Given the description of an element on the screen output the (x, y) to click on. 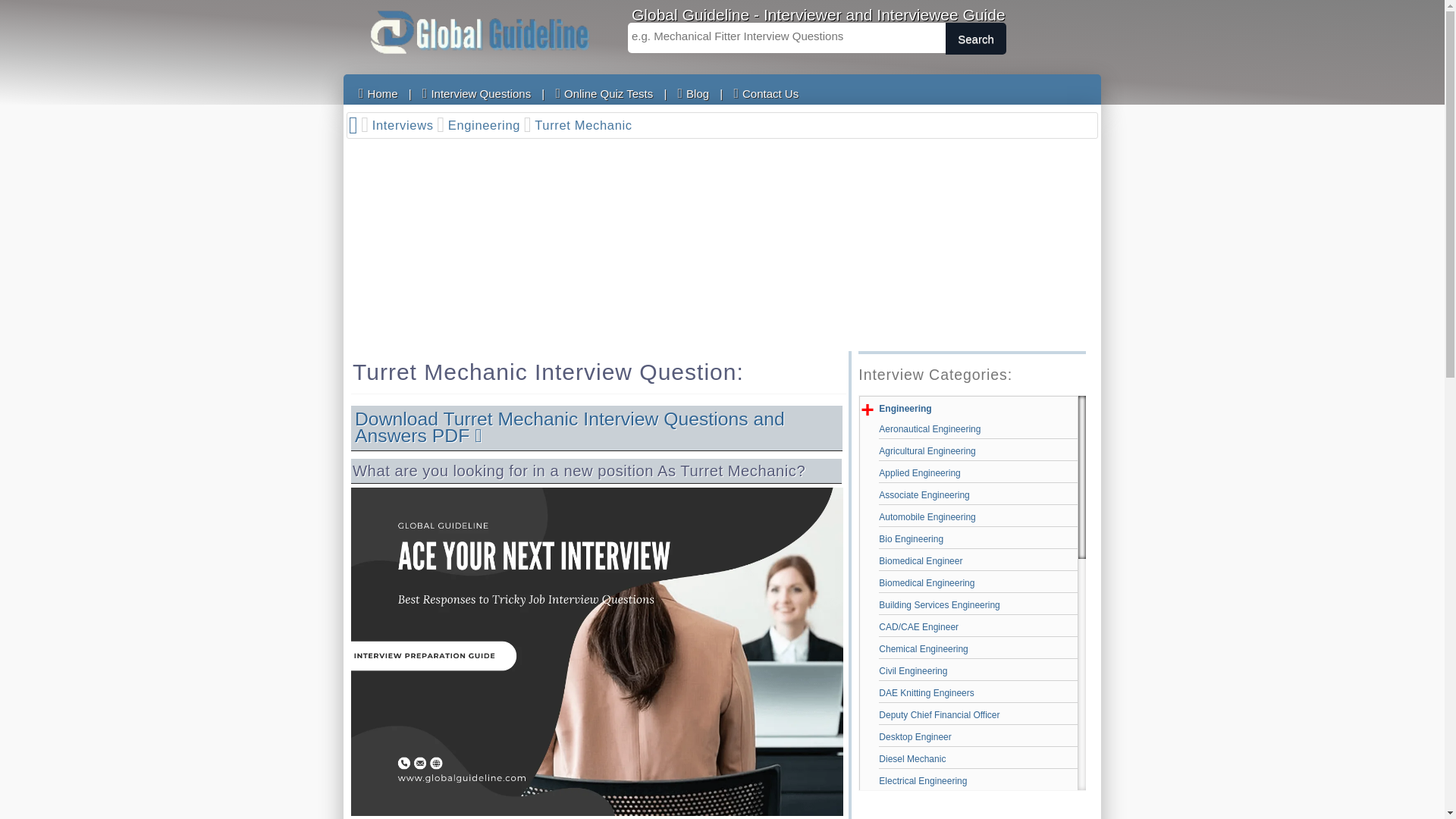
DAE Knitting Engineers (978, 693)
Aeronautical Engineering (978, 429)
Electrical Engineering (978, 781)
Global Guideline (479, 31)
Interviews (408, 125)
Chemical Engineering (978, 649)
Electronics Communications (978, 802)
Contact Us (765, 92)
Associate Engineering (978, 494)
Turret Mechanic (584, 125)
Interview Questions (476, 92)
DAE Knitting Engineers (978, 693)
Aeronautical Engineering (978, 429)
